Given the description of an element on the screen output the (x, y) to click on. 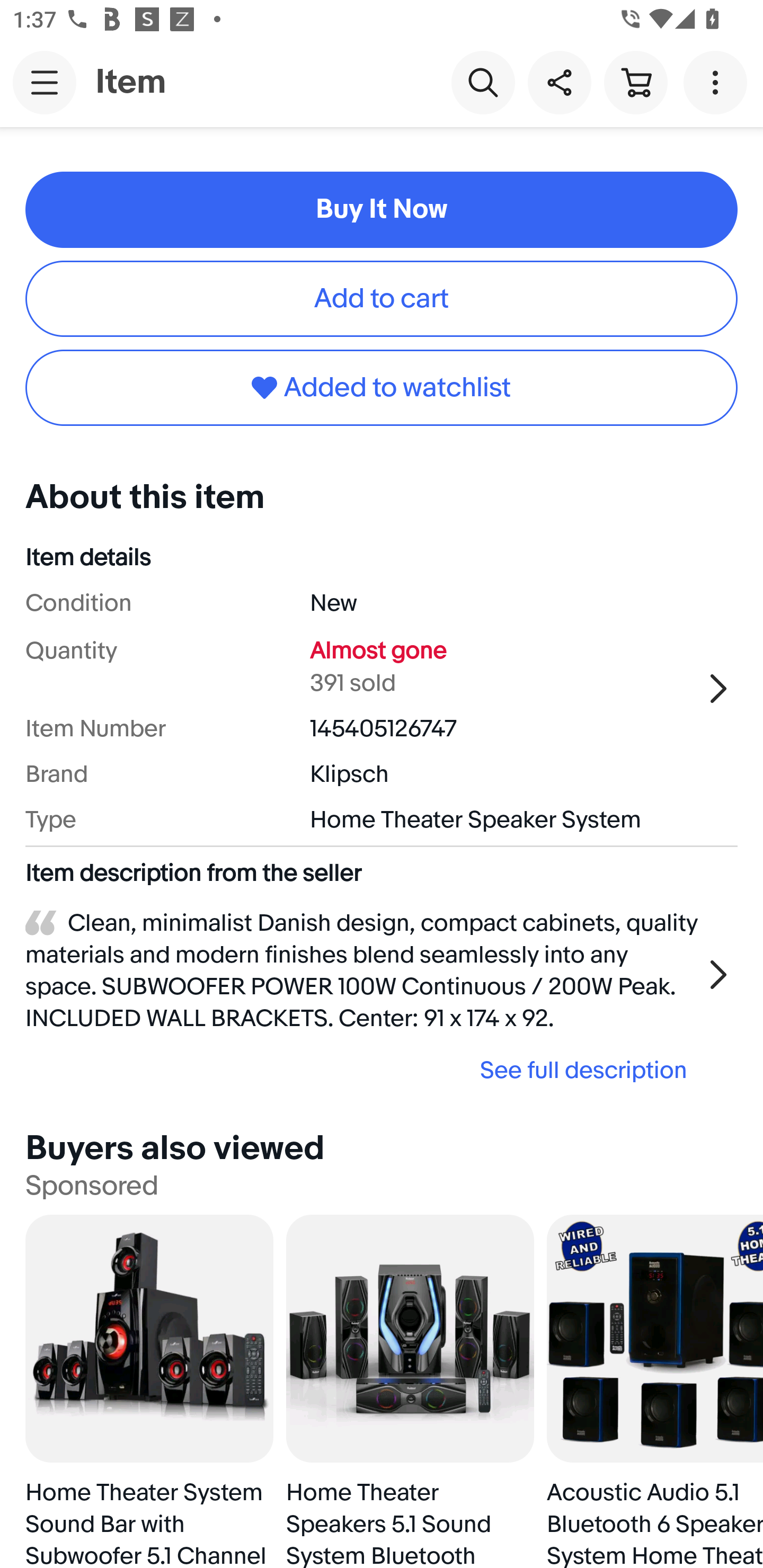
Main navigation, open (44, 82)
Search (482, 81)
Share this item (559, 81)
Cart button shopping cart (635, 81)
More options (718, 81)
Buy It Now (381, 208)
Add to cart (381, 298)
Added to watchlist (381, 387)
See full description (362, 1069)
